Given the description of an element on the screen output the (x, y) to click on. 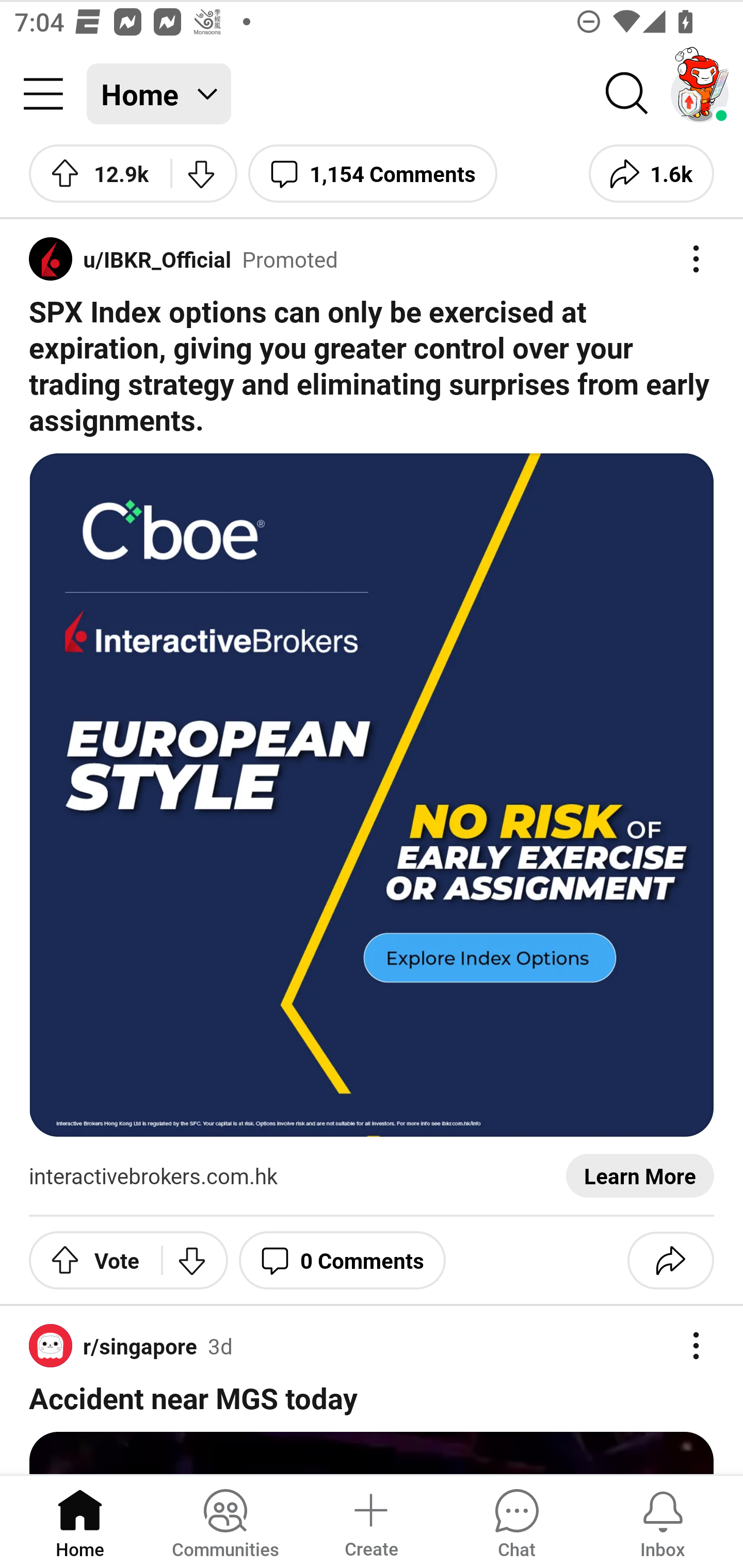
Community menu (43, 93)
Home Home feed (158, 93)
Search (626, 93)
TestAppium002 account (699, 93)
Home (80, 1520)
Communities (225, 1520)
Create a post Create (370, 1520)
Chat (516, 1520)
Inbox (662, 1520)
